Given the description of an element on the screen output the (x, y) to click on. 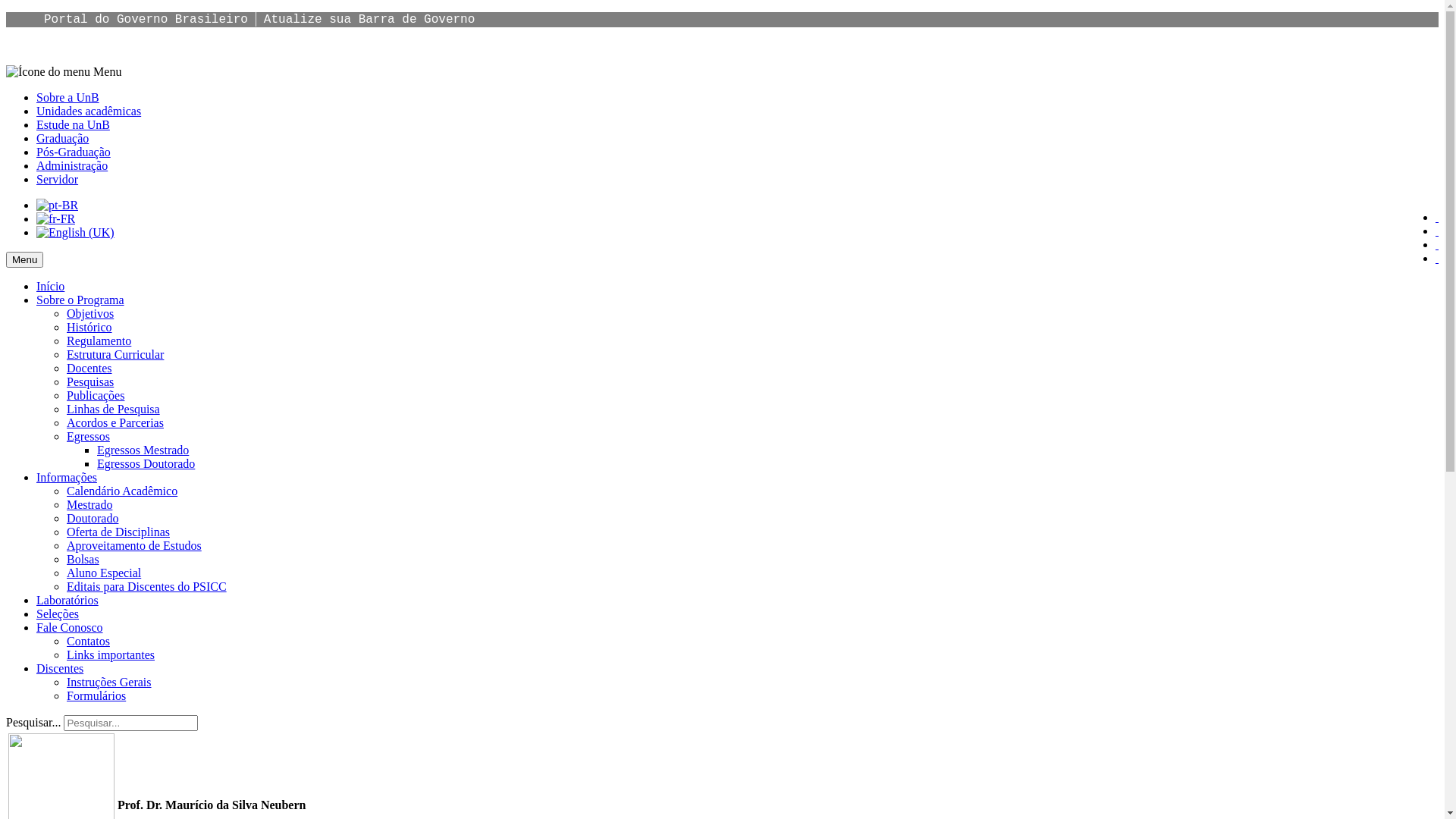
pt-BR Element type: hover (57, 205)
Fale Conosco Element type: text (69, 627)
Discentes Element type: text (59, 668)
Docentes Element type: text (89, 367)
Bolsas Element type: text (82, 558)
Pesquisas Element type: text (89, 381)
Egressos Element type: text (87, 435)
Servidor Element type: text (57, 178)
Objetivos Element type: text (89, 313)
Menu Element type: text (63, 71)
fr-FR Element type: hover (55, 218)
Estude na UnB Element type: text (72, 124)
Linhas de Pesquisa Element type: text (113, 408)
Fala.BR Element type: hover (1436, 244)
Telefones da UnB Element type: hover (1436, 230)
Estrutura Curricular Element type: text (114, 354)
Menu Element type: text (24, 259)
Atualize sua Barra de Governo Element type: text (368, 19)
Webmail Element type: hover (1436, 216)
Links importantes Element type: text (110, 654)
Contatos Element type: text (87, 640)
Sobre a UnB Element type: text (67, 97)
Sistemas Element type: hover (1436, 257)
Aproveitamento de Estudos Element type: text (133, 545)
  Element type: text (1436, 244)
English (UK) Element type: hover (75, 232)
  Element type: text (1436, 257)
Portal do Governo Brasileiro Element type: text (145, 19)
Regulamento Element type: text (98, 340)
Acordos e Parcerias Element type: text (114, 422)
Editais para Discentes do PSICC Element type: text (146, 586)
Sobre o Programa Element type: text (80, 299)
  Element type: text (1436, 216)
Oferta de Disciplinas Element type: text (117, 531)
  Element type: text (1436, 230)
Doutorado Element type: text (92, 517)
Mestrado Element type: text (89, 504)
Egressos Mestrado Element type: text (142, 449)
Egressos Doutorado Element type: text (145, 463)
Aluno Especial Element type: text (103, 572)
